Given the description of an element on the screen output the (x, y) to click on. 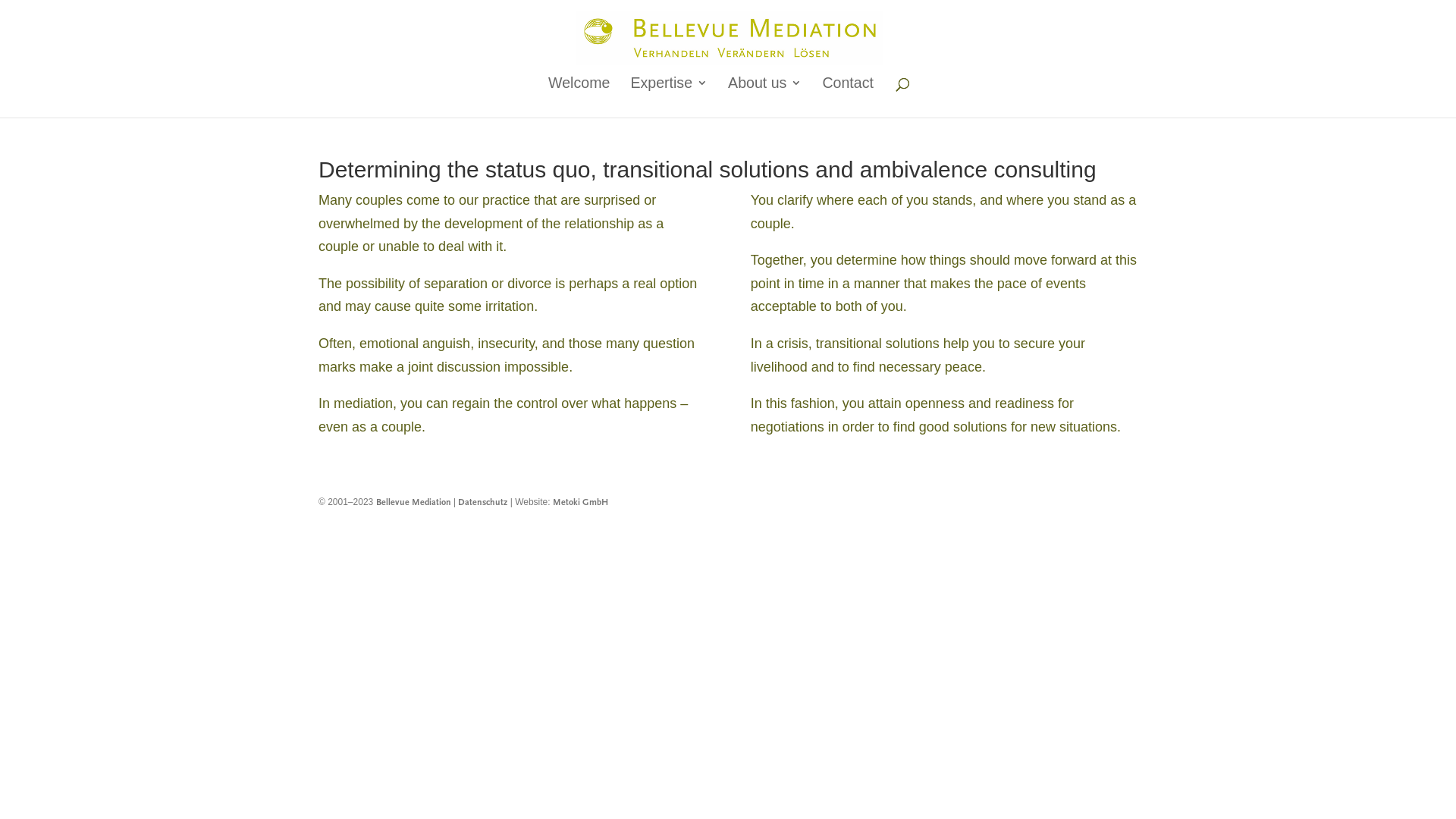
Datenschutz Element type: text (482, 502)
Bellevue Mediation Element type: text (413, 502)
Expertise Element type: text (668, 97)
About us Element type: text (764, 97)
Metoki GmbH Element type: text (580, 502)
Welcome Element type: text (578, 97)
Contact Element type: text (847, 97)
